Given the description of an element on the screen output the (x, y) to click on. 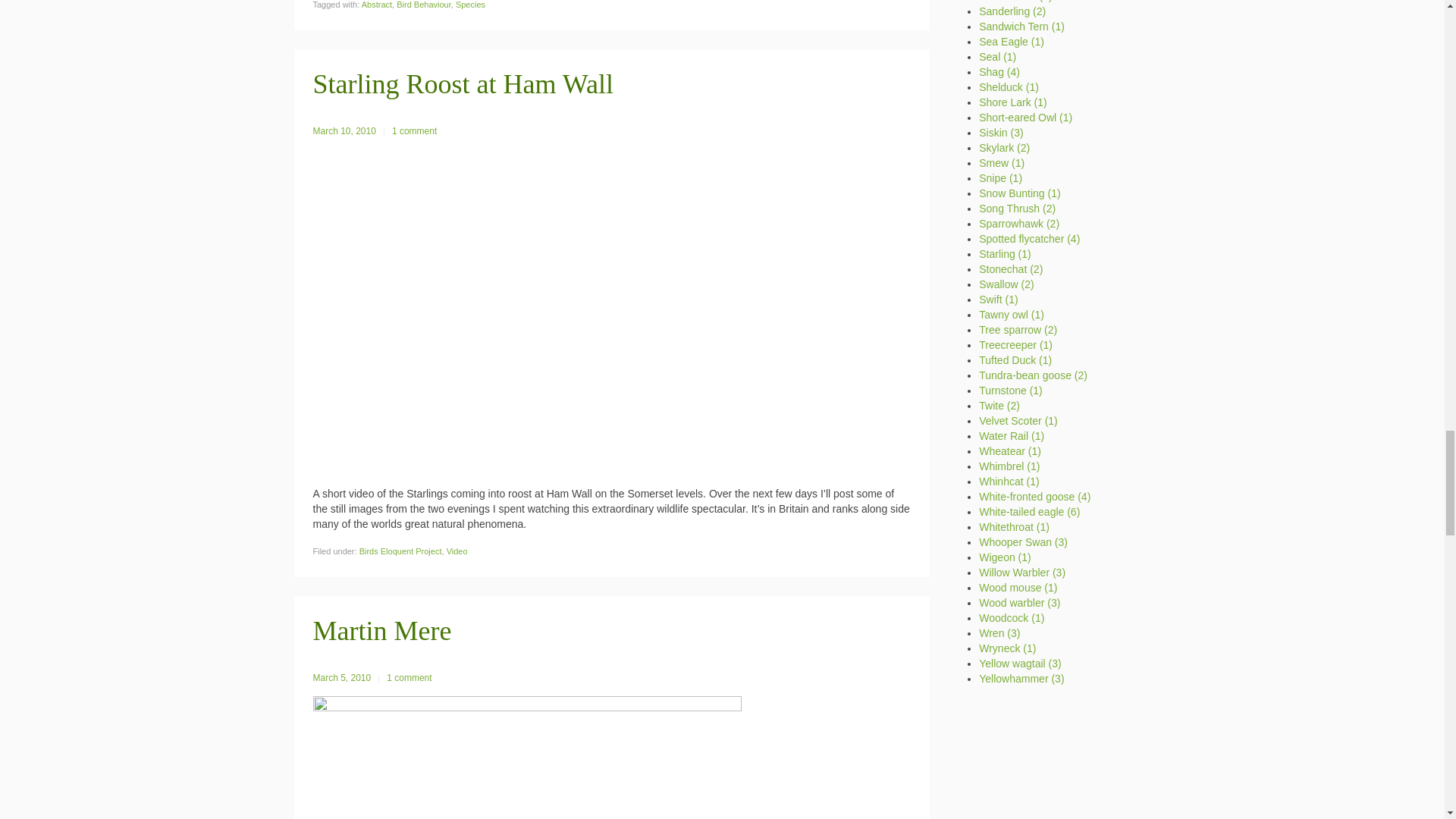
Martin Mere (382, 630)
mm2 (527, 754)
Starling Roost at Ham Wall (462, 83)
